Given the description of an element on the screen output the (x, y) to click on. 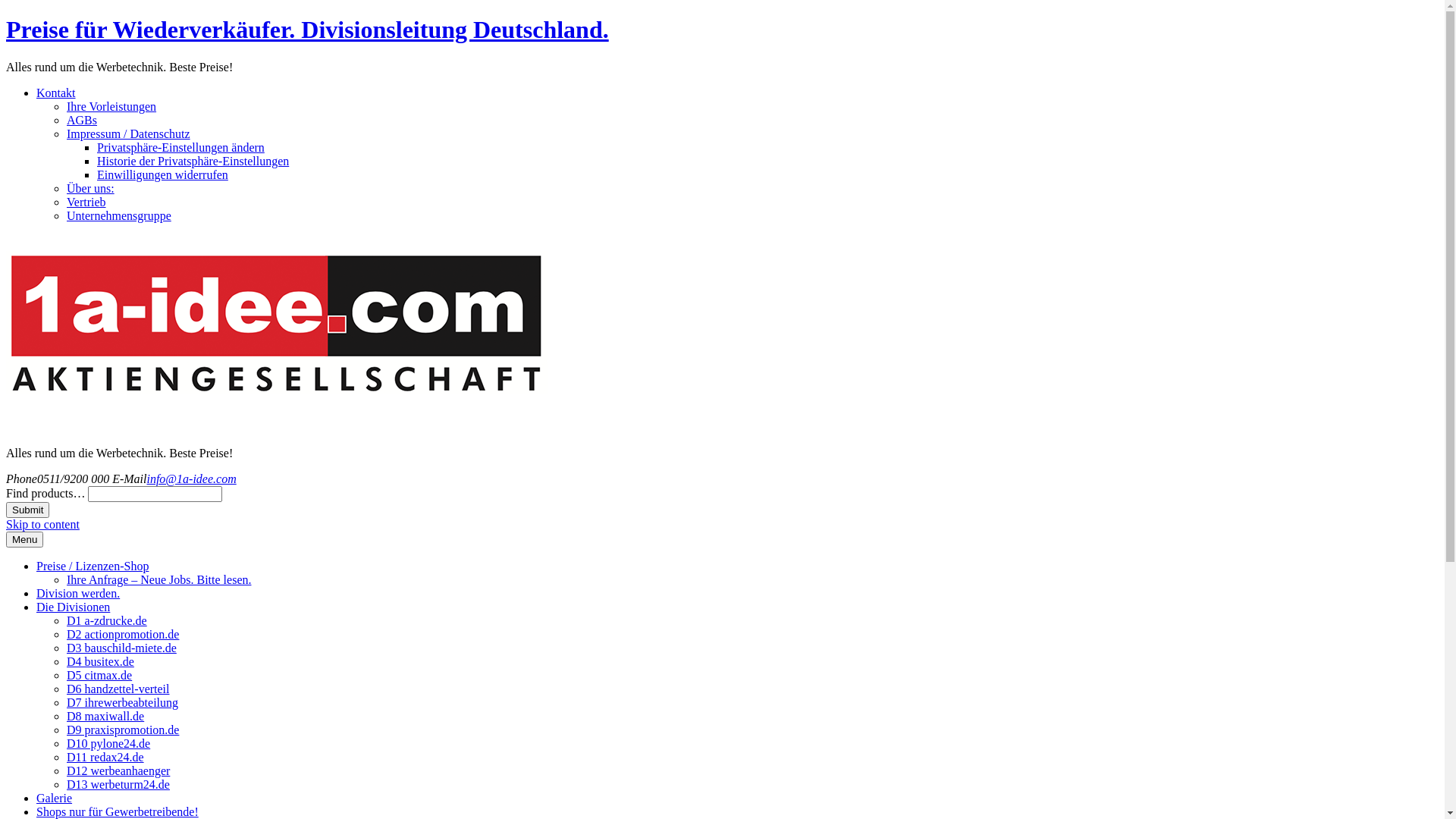
Einwilligungen widerrufen Element type: text (162, 174)
D10 pylone24.de Element type: text (108, 743)
Unternehmensgruppe Element type: text (118, 215)
D2 actionpromotion.de Element type: text (122, 633)
D1 a-zdrucke.de Element type: text (106, 620)
Menu Element type: text (24, 539)
info@1a-idee.com Element type: text (190, 478)
D6 handzettel-verteil Element type: text (117, 688)
Ihre Vorleistungen Element type: text (111, 106)
Division werden. Element type: text (77, 592)
D7 ihrewerbeabteilung Element type: text (122, 702)
D5 citmax.de Element type: text (98, 674)
D4 busitex.de Element type: text (100, 661)
Skip to content Element type: text (42, 523)
D13 werbeturm24.de Element type: text (117, 784)
Preise / Lizenzen-Shop Element type: text (92, 565)
AGBs Element type: text (81, 119)
Galerie Element type: text (54, 797)
D3 bauschild-miete.de Element type: text (121, 647)
Die Divisionen Element type: text (72, 606)
Kontakt Element type: text (55, 92)
Impressum / Datenschutz Element type: text (128, 133)
D8 maxiwall.de Element type: text (105, 715)
D9 praxispromotion.de Element type: text (122, 729)
D12 werbeanhaenger Element type: text (117, 770)
Vertrieb Element type: text (86, 201)
Submit Element type: text (27, 509)
D11 redax24.de Element type: text (105, 756)
